Given the description of an element on the screen output the (x, y) to click on. 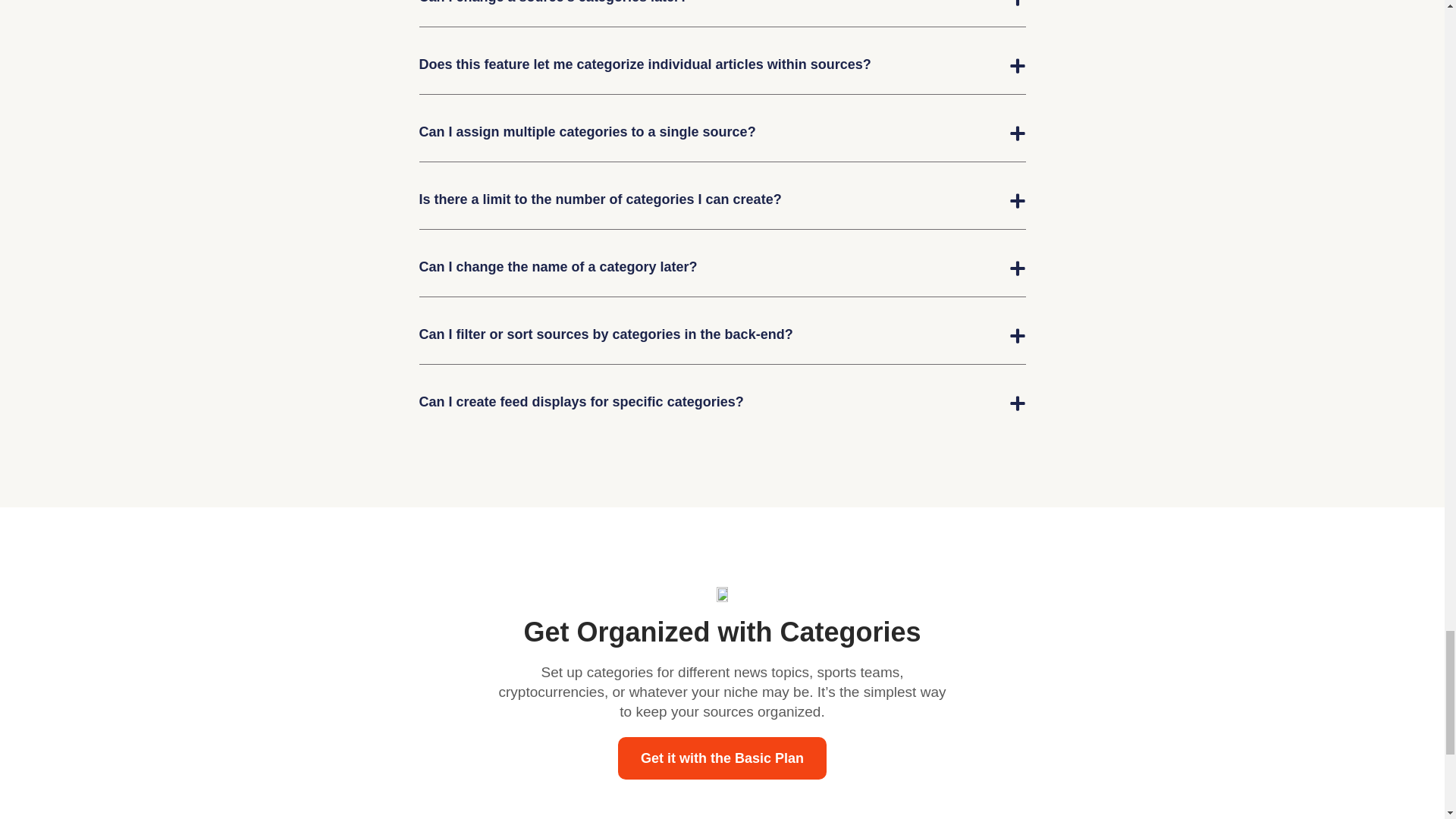
Can I create feed displays for specific categories? (580, 401)
Can I filter or sort sources by categories in the back-end? (605, 334)
Can I change the name of a category later? (558, 266)
Is there a limit to the number of categories I can create? (599, 199)
Get it with the Basic Plan (722, 758)
Can I assign multiple categories to a single source? (587, 131)
Can I change a source's categories later? (553, 2)
